Given the description of an element on the screen output the (x, y) to click on. 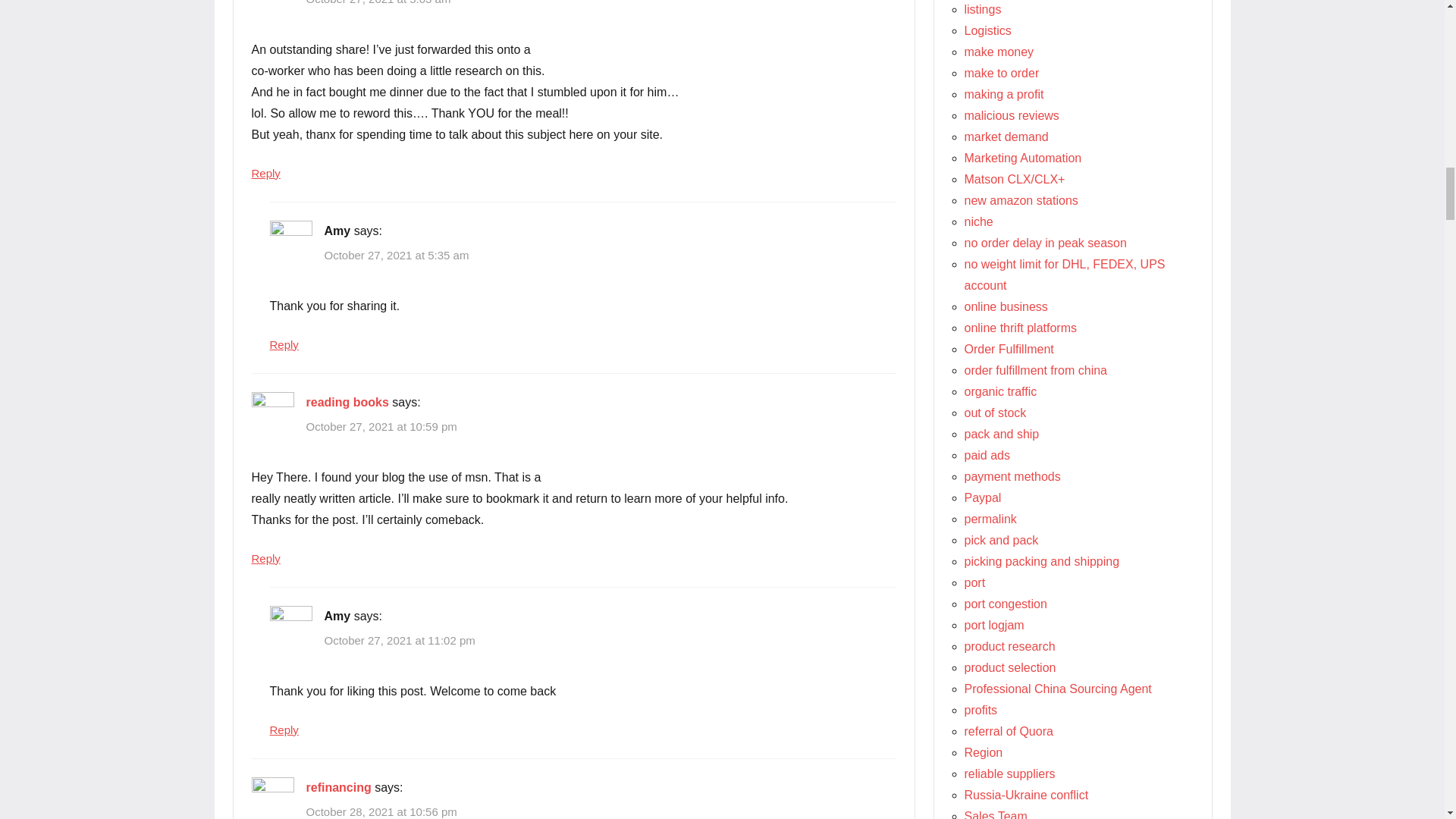
October 27, 2021 at 5:35 am (396, 254)
October 27, 2021 at 10:59 pm (381, 426)
October 27, 2021 at 5:03 am (378, 2)
Reply (266, 173)
reading books (346, 401)
Reply (266, 558)
October 27, 2021 at 11:02 pm (400, 640)
Reply (283, 344)
